Given the description of an element on the screen output the (x, y) to click on. 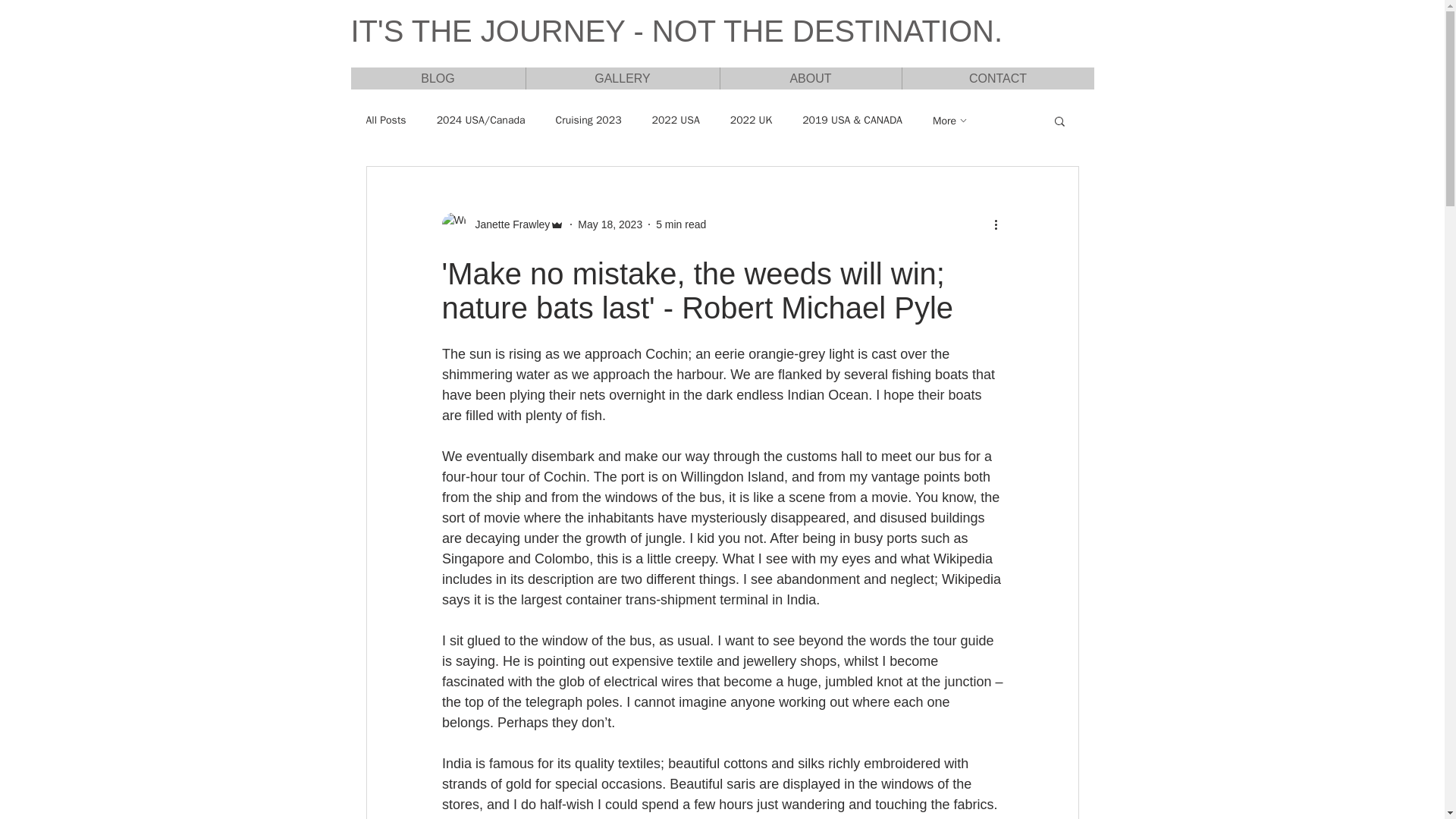
ABOUT (810, 78)
BLOG (437, 78)
5 min read (681, 224)
IT'S THE JOURNEY - NOT THE DESTINATION. (676, 30)
Janette Frawley (507, 224)
Cruising 2023 (588, 120)
GALLERY (621, 78)
2022 UK (750, 120)
All Posts (385, 120)
CONTACT (997, 78)
May 18, 2023 (610, 224)
2022 USA (676, 120)
